Given the description of an element on the screen output the (x, y) to click on. 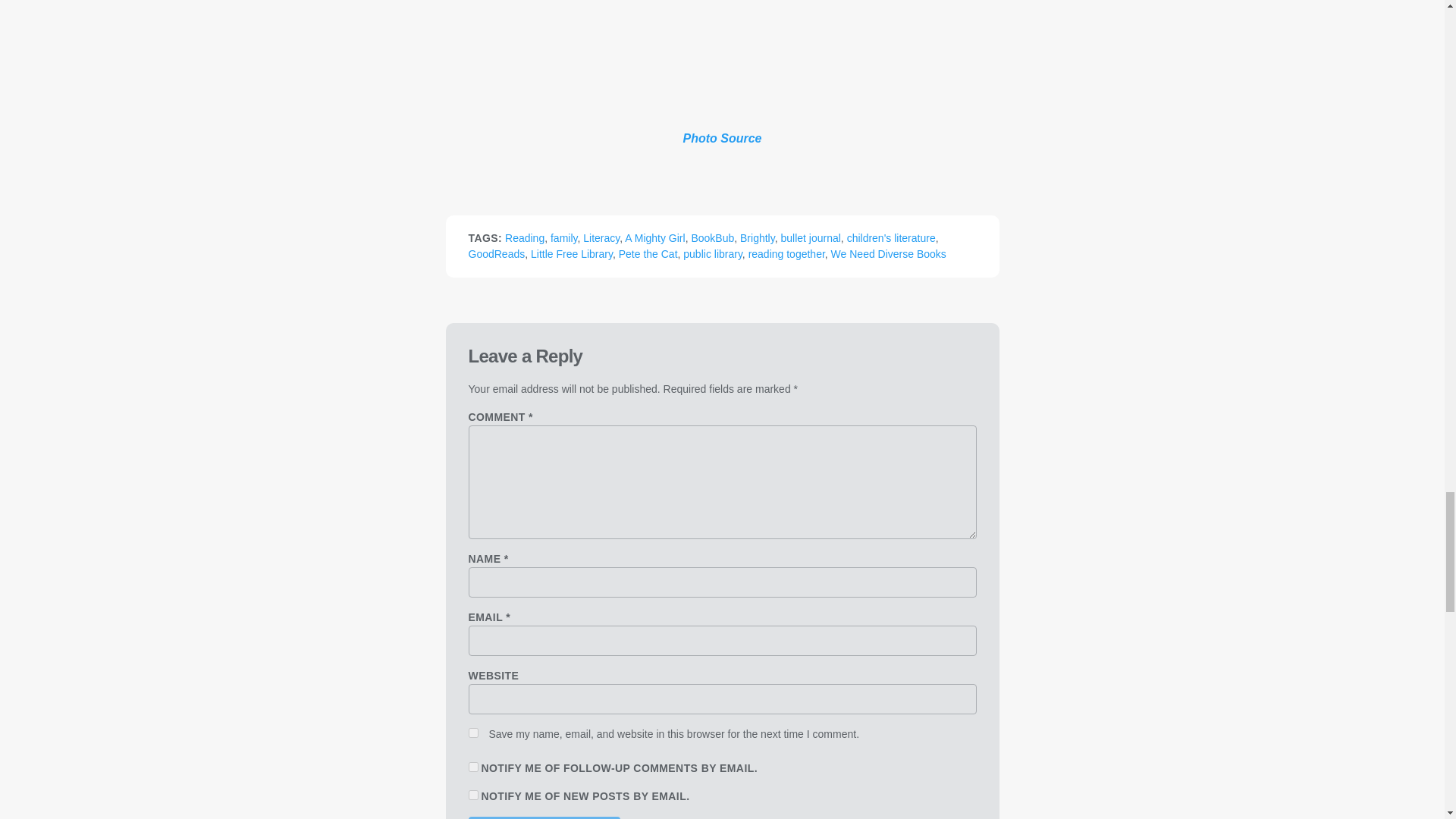
Post Comment (544, 817)
subscribe (473, 767)
yes (473, 732)
subscribe (473, 795)
